Given the description of an element on the screen output the (x, y) to click on. 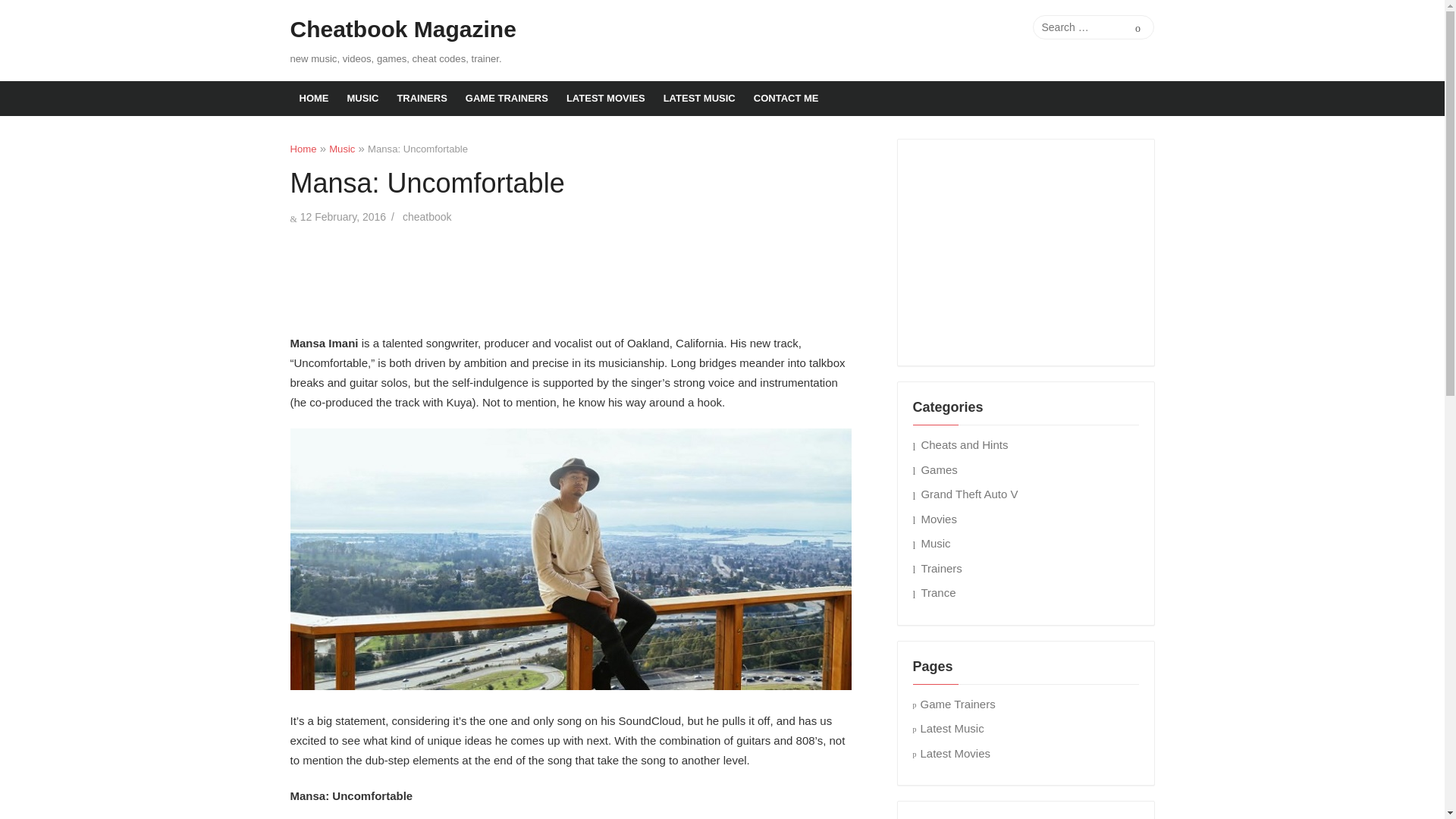
CONTACT ME (786, 98)
TRAINERS (421, 98)
LATEST MOVIES (605, 98)
12 February, 2016 (342, 216)
Cheatbook Magazine (402, 29)
GAME TRAINERS (507, 98)
Search (1137, 27)
MUSIC (362, 98)
Advertisement (569, 275)
Home (302, 148)
Advertisement (1026, 248)
HOME (313, 98)
LATEST MUSIC (698, 98)
cheatbook (427, 216)
Music (342, 148)
